Given the description of an element on the screen output the (x, y) to click on. 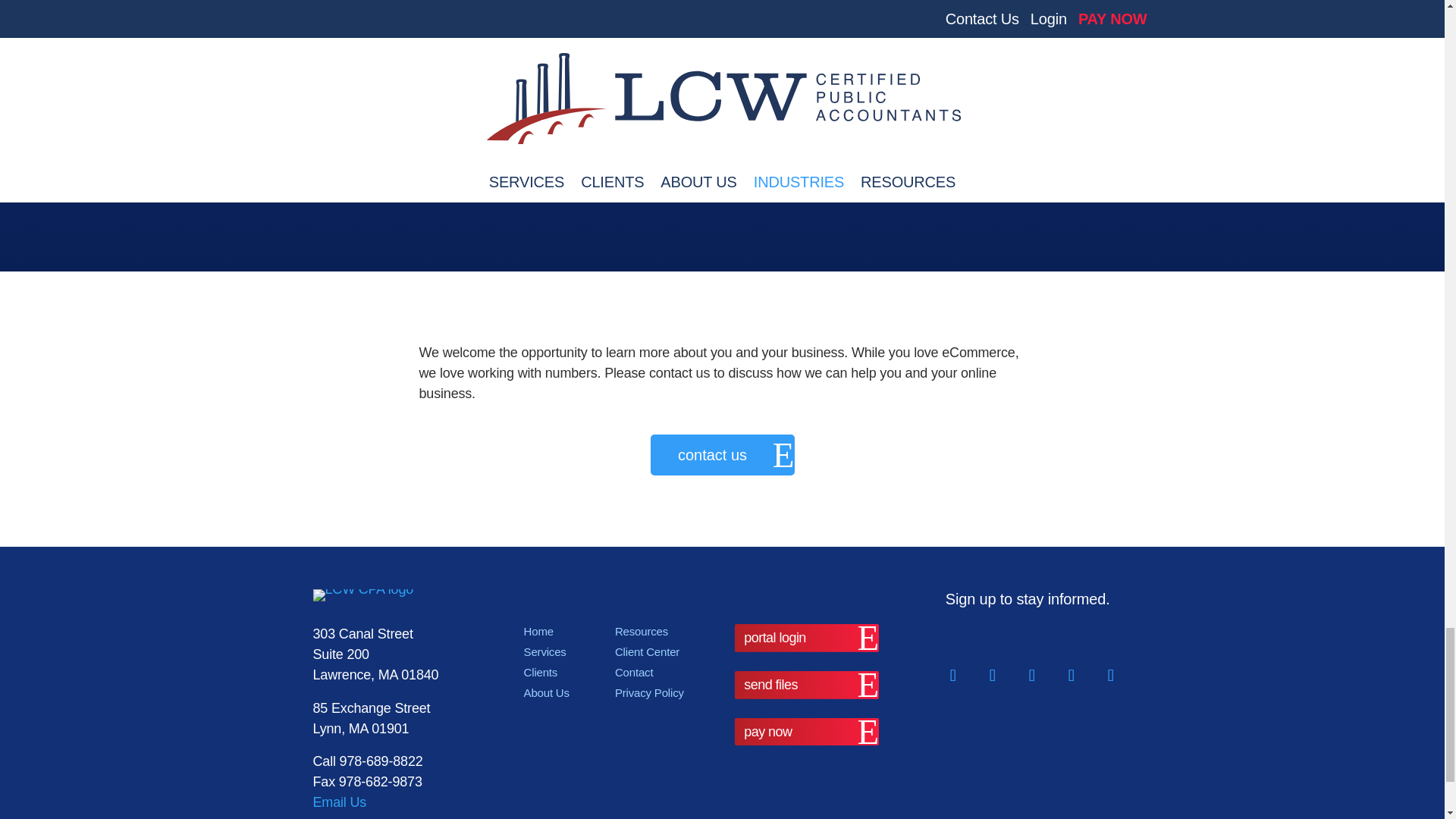
Follow on X (1031, 675)
Follow on Facebook (952, 675)
Follow on Instagram (1070, 675)
Follow on LinkedIn (992, 675)
Follow on Youtube (1110, 675)
